Given the description of an element on the screen output the (x, y) to click on. 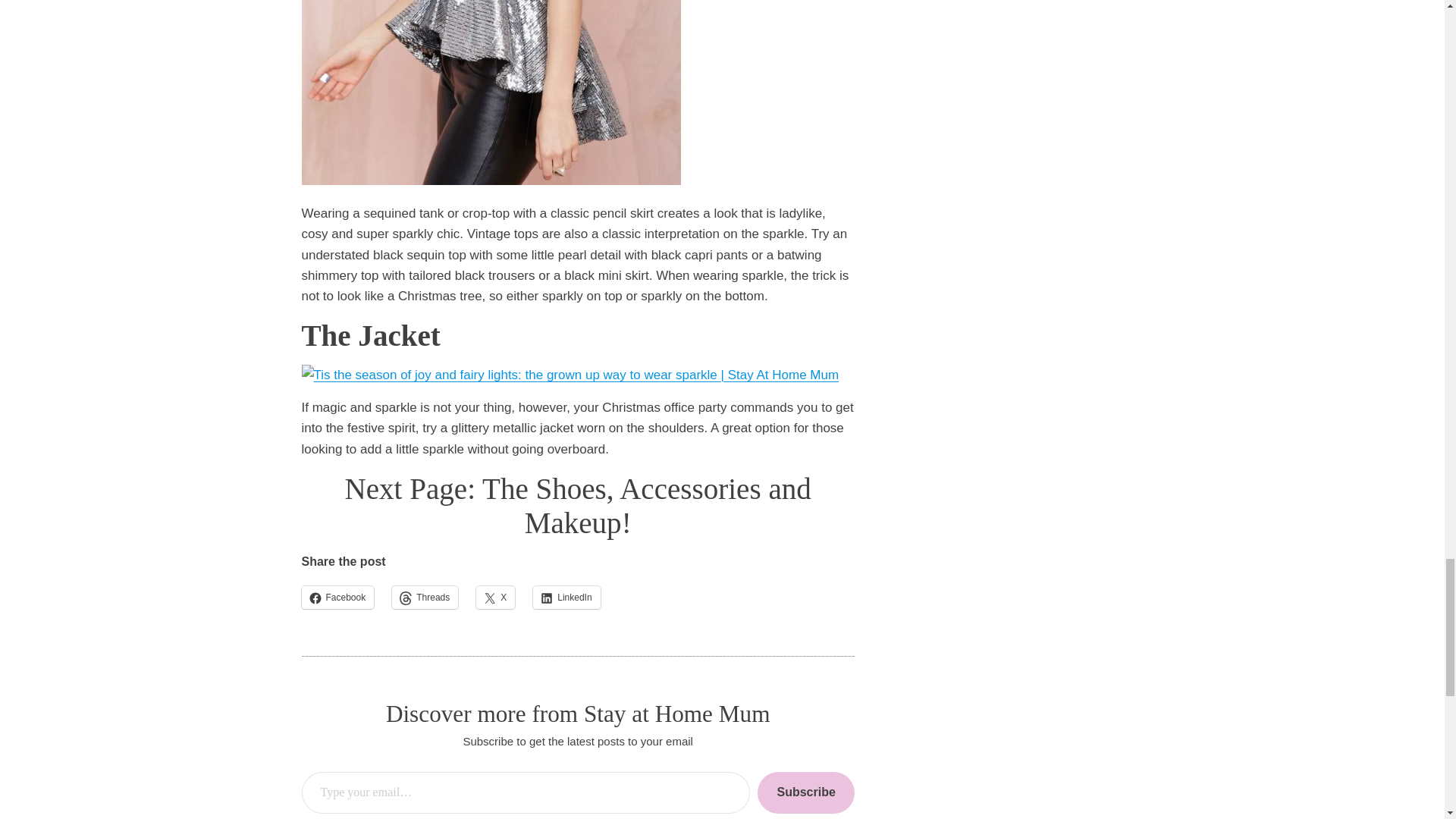
Please fill in this field. (526, 793)
